Given the description of an element on the screen output the (x, y) to click on. 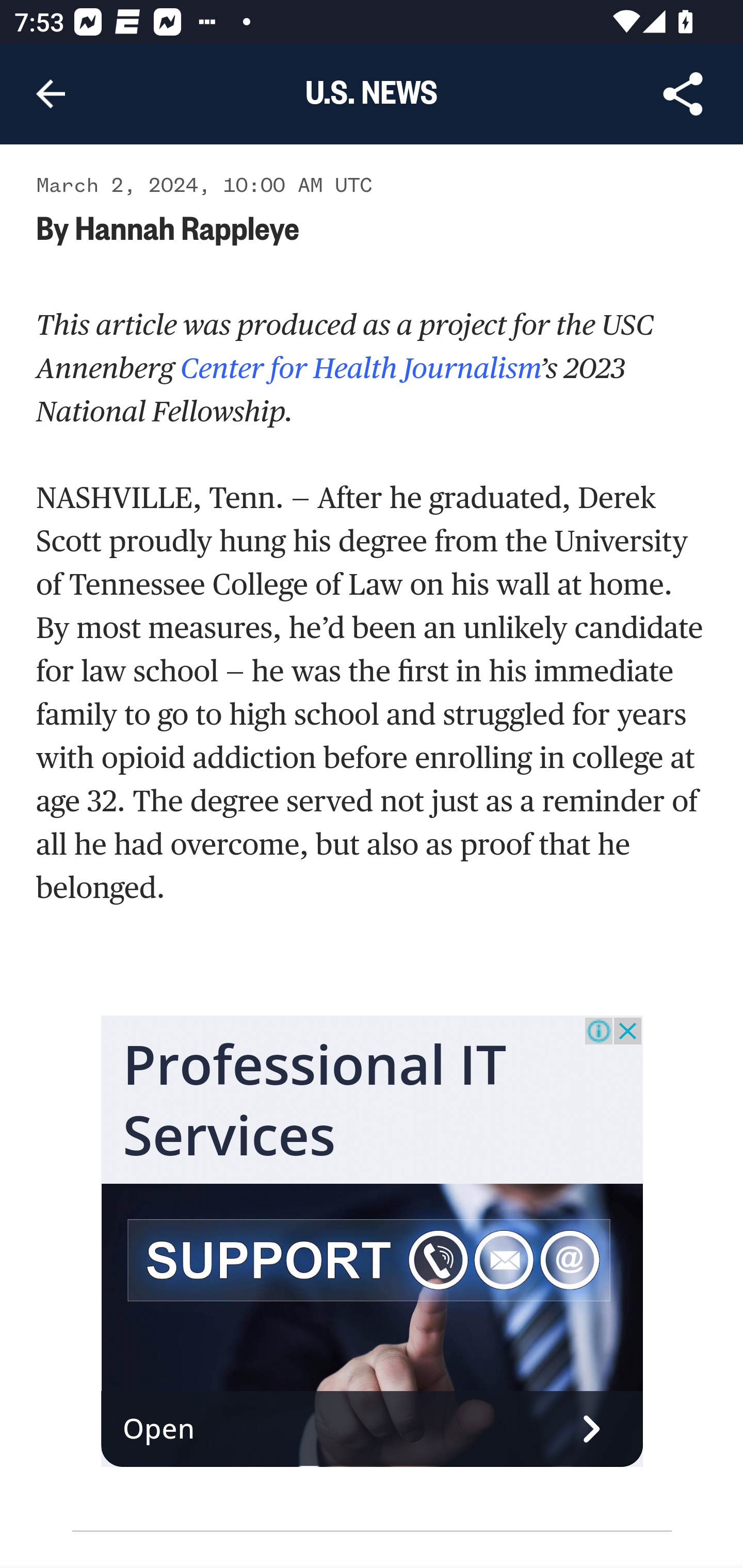
Navigate up (50, 93)
Share Article, button (683, 94)
 Center for Health Journalism (357, 367)
Professional IT Services Professional IT Services (314, 1099)
Open (372, 1430)
